Given the description of an element on the screen output the (x, y) to click on. 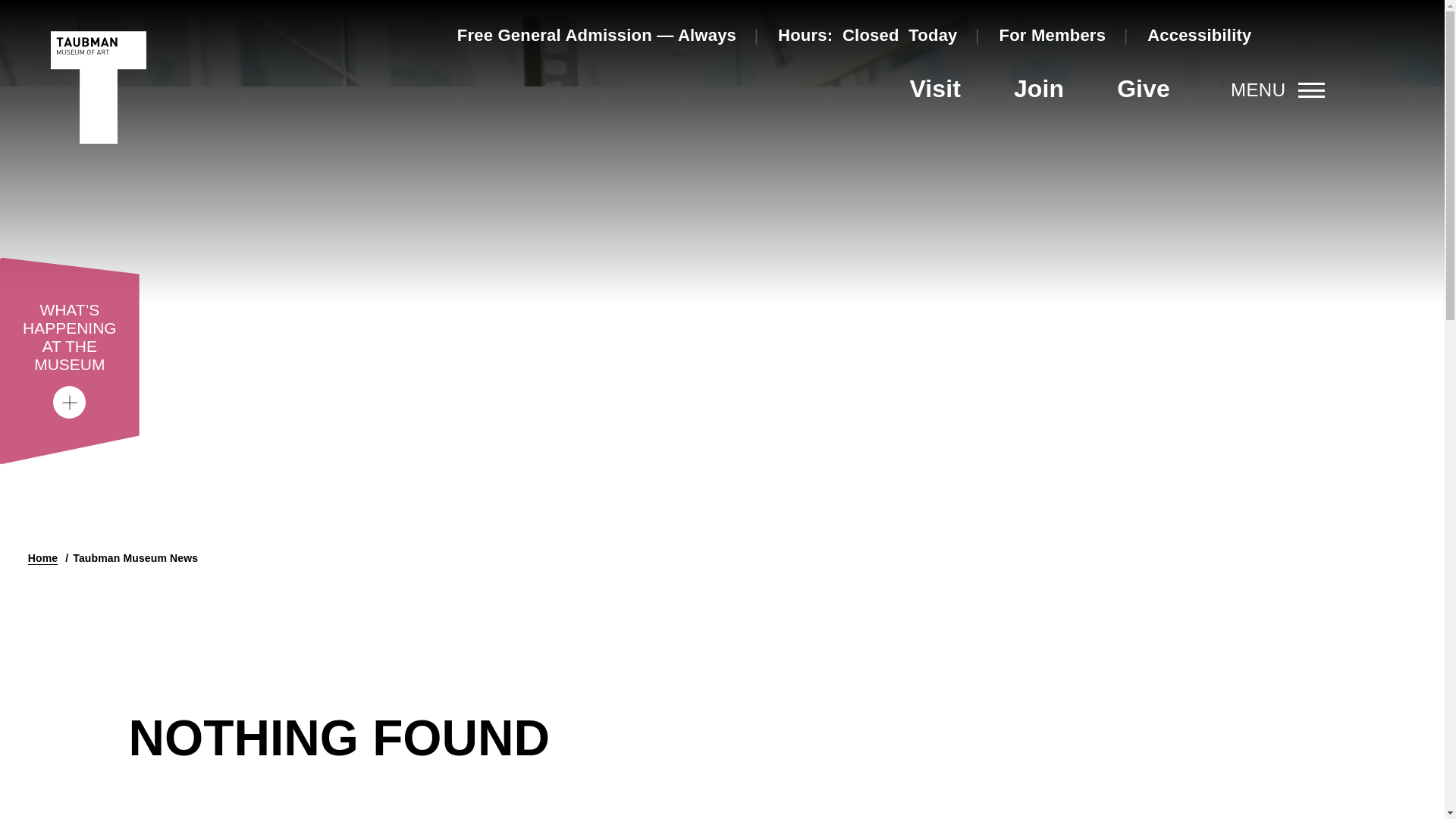
Search (1313, 34)
MENU (1277, 90)
Give (1143, 88)
For Members (1052, 35)
Accessibility (1198, 35)
Visit (934, 88)
Join (1038, 88)
